Given the description of an element on the screen output the (x, y) to click on. 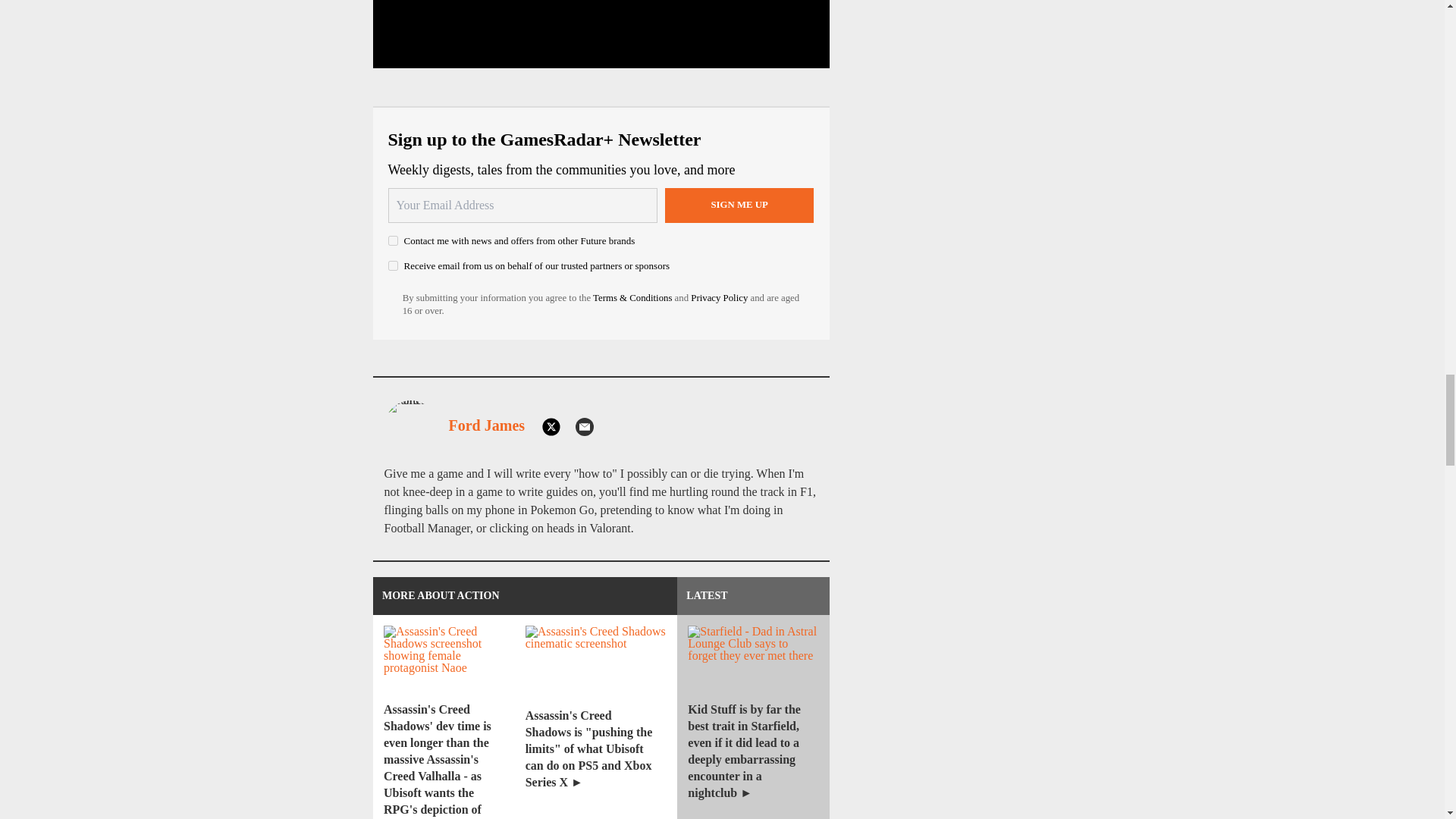
Sign me up (739, 205)
on (392, 240)
on (392, 266)
